Given the description of an element on the screen output the (x, y) to click on. 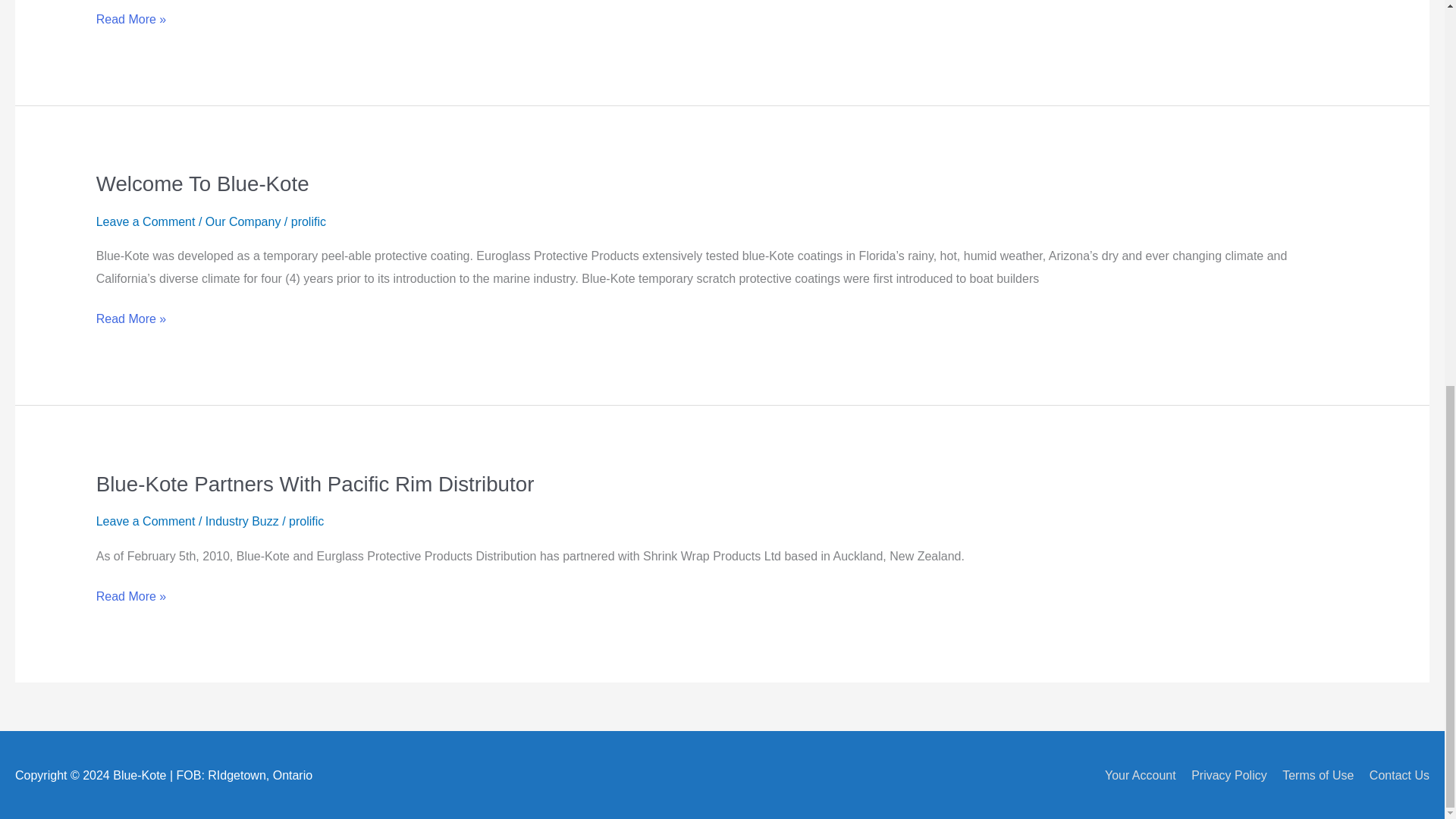
prolific (308, 221)
Privacy Policy (1222, 775)
View all posts by prolific (305, 521)
Your Account (1134, 775)
View all posts by prolific (308, 221)
Contact Us (1392, 775)
Leave a Comment (145, 521)
Leave a Comment (145, 221)
Industry Buzz (242, 521)
Our Company (243, 221)
Terms of Use (1311, 775)
Blue-Kote Partners With Pacific Rim Distributor (315, 484)
Welcome To Blue-Kote (202, 183)
prolific (305, 521)
